Given the description of an element on the screen output the (x, y) to click on. 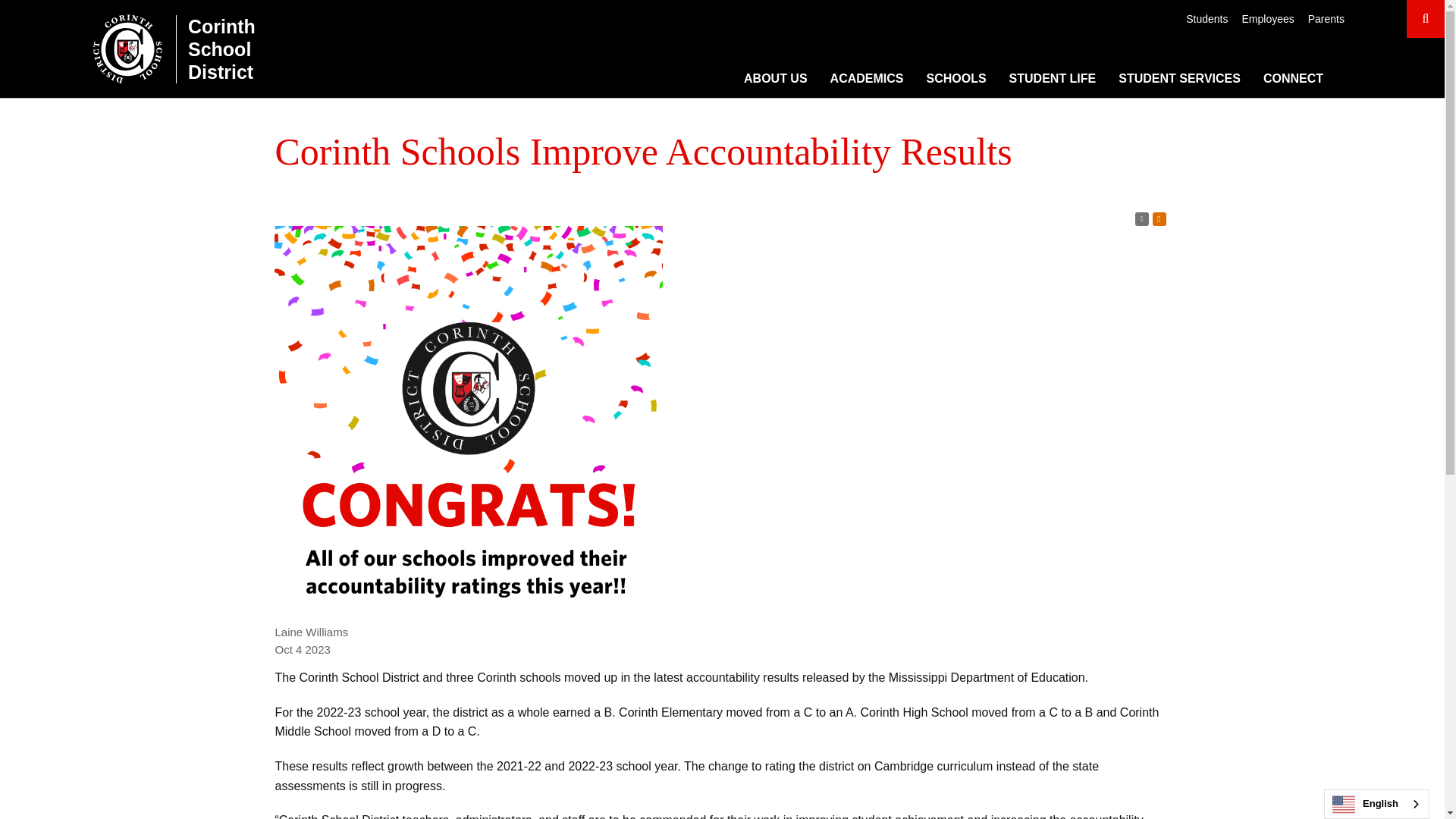
Alerts (1159, 219)
RSS (1141, 219)
